Given the description of an element on the screen output the (x, y) to click on. 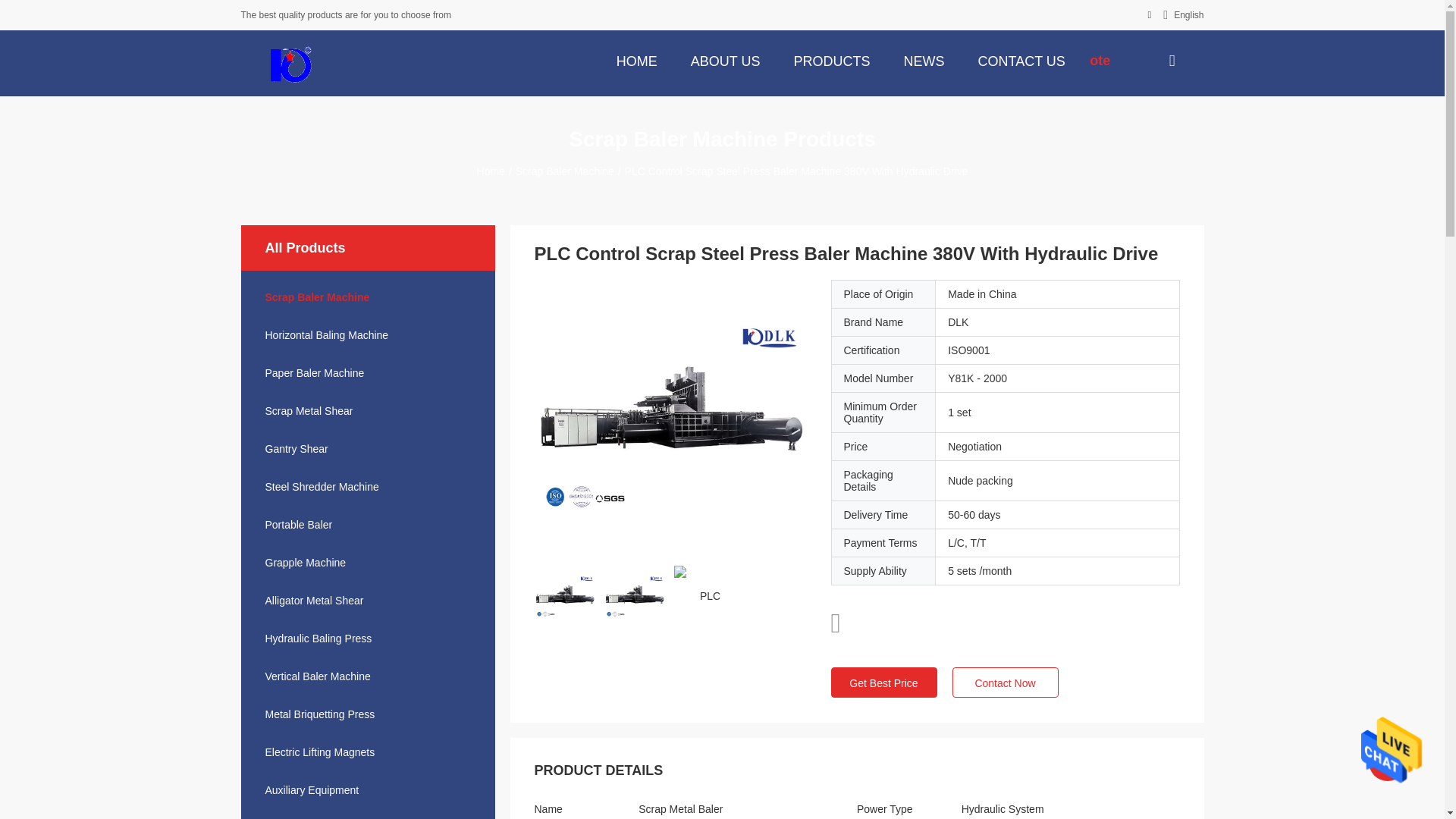
About Us (725, 60)
NEWS (923, 60)
ABOUT US (725, 60)
JiangSu DaLongKai Technology Co., Ltd (289, 63)
Products (831, 60)
PRODUCTS (831, 60)
Home (636, 60)
CONTACT US (1021, 60)
HOME (636, 60)
